Given the description of an element on the screen output the (x, y) to click on. 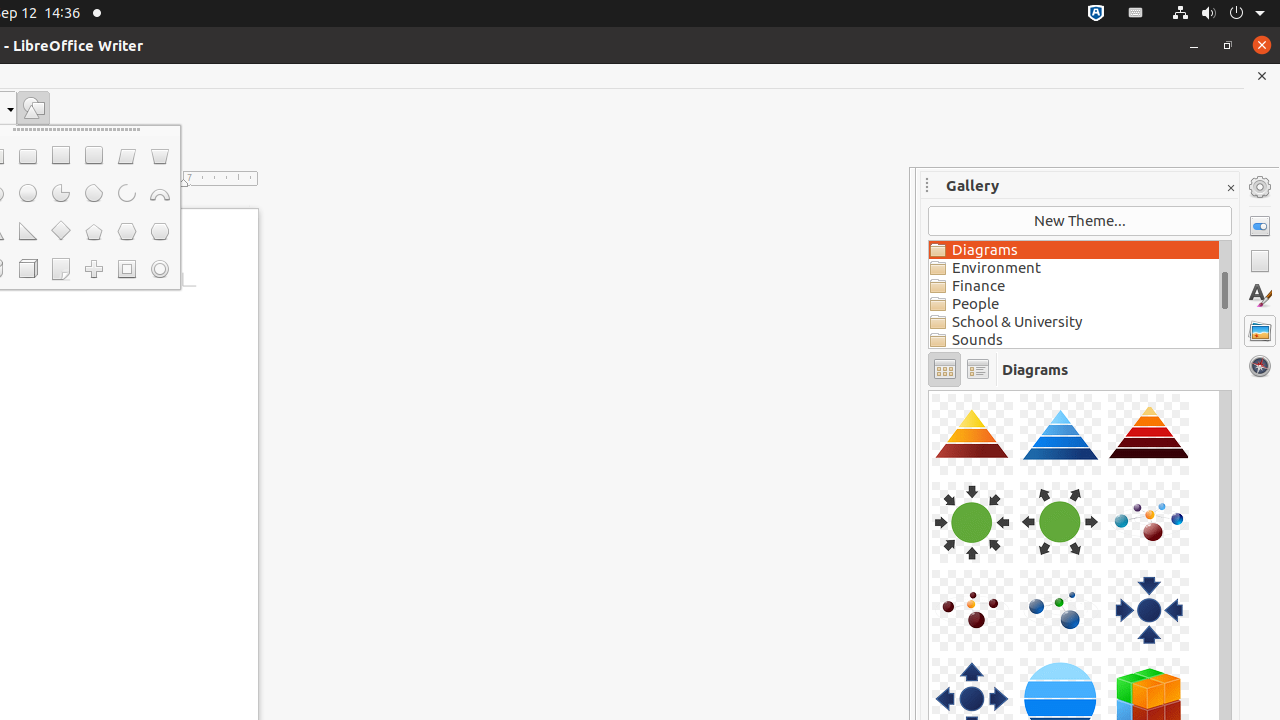
Block Arc Element type: toggle-button (159, 193)
Component-Sphere02-LightBlue Element type: list-item (929, 390)
Component-Circle03-Transparent-Green Element type: list-item (929, 390)
System Element type: menu (1218, 13)
Component-Cuboid02-Blue Element type: list-item (929, 390)
